Given the description of an element on the screen output the (x, y) to click on. 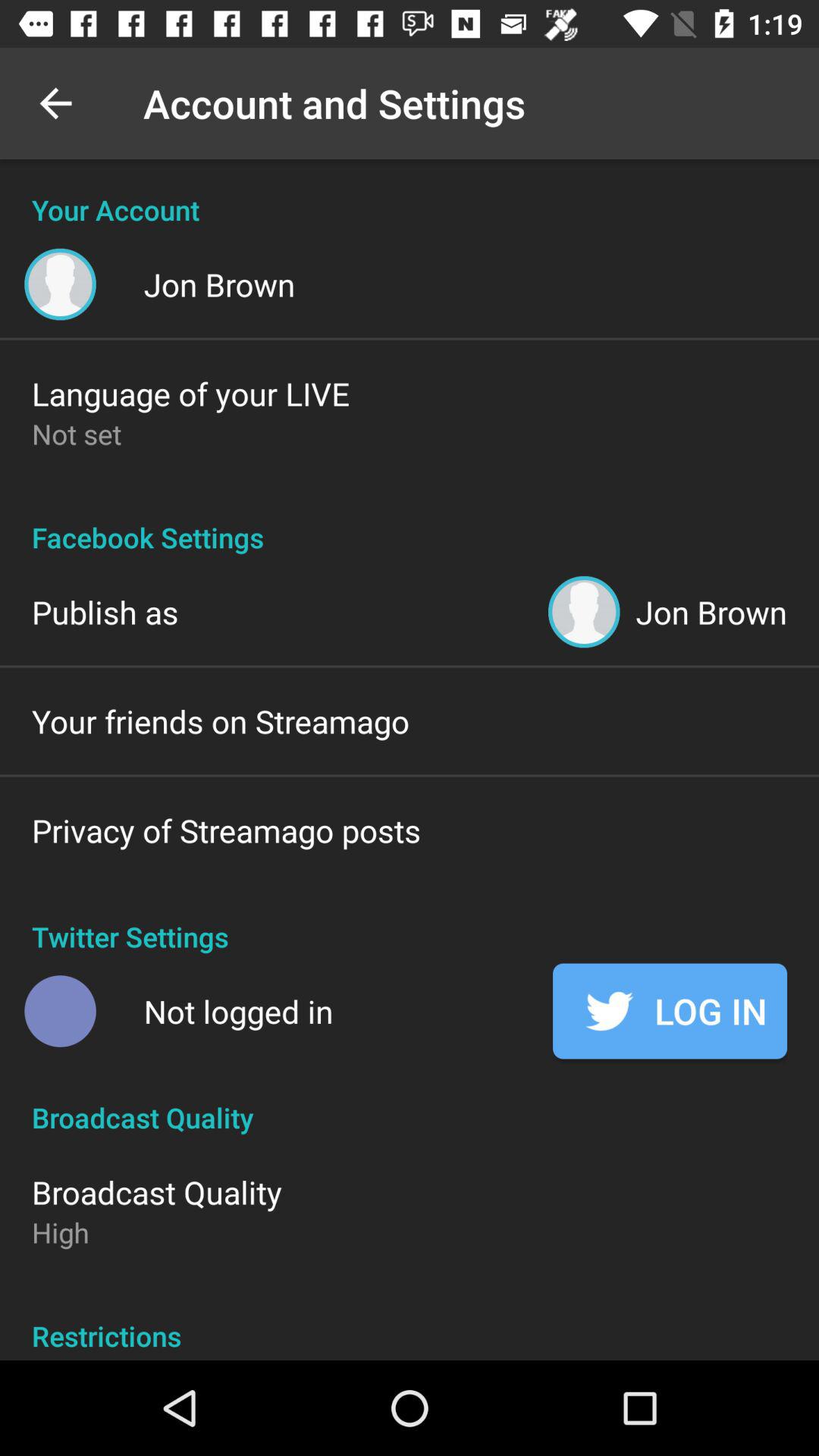
press the icon next to the log in (238, 1010)
